Given the description of an element on the screen output the (x, y) to click on. 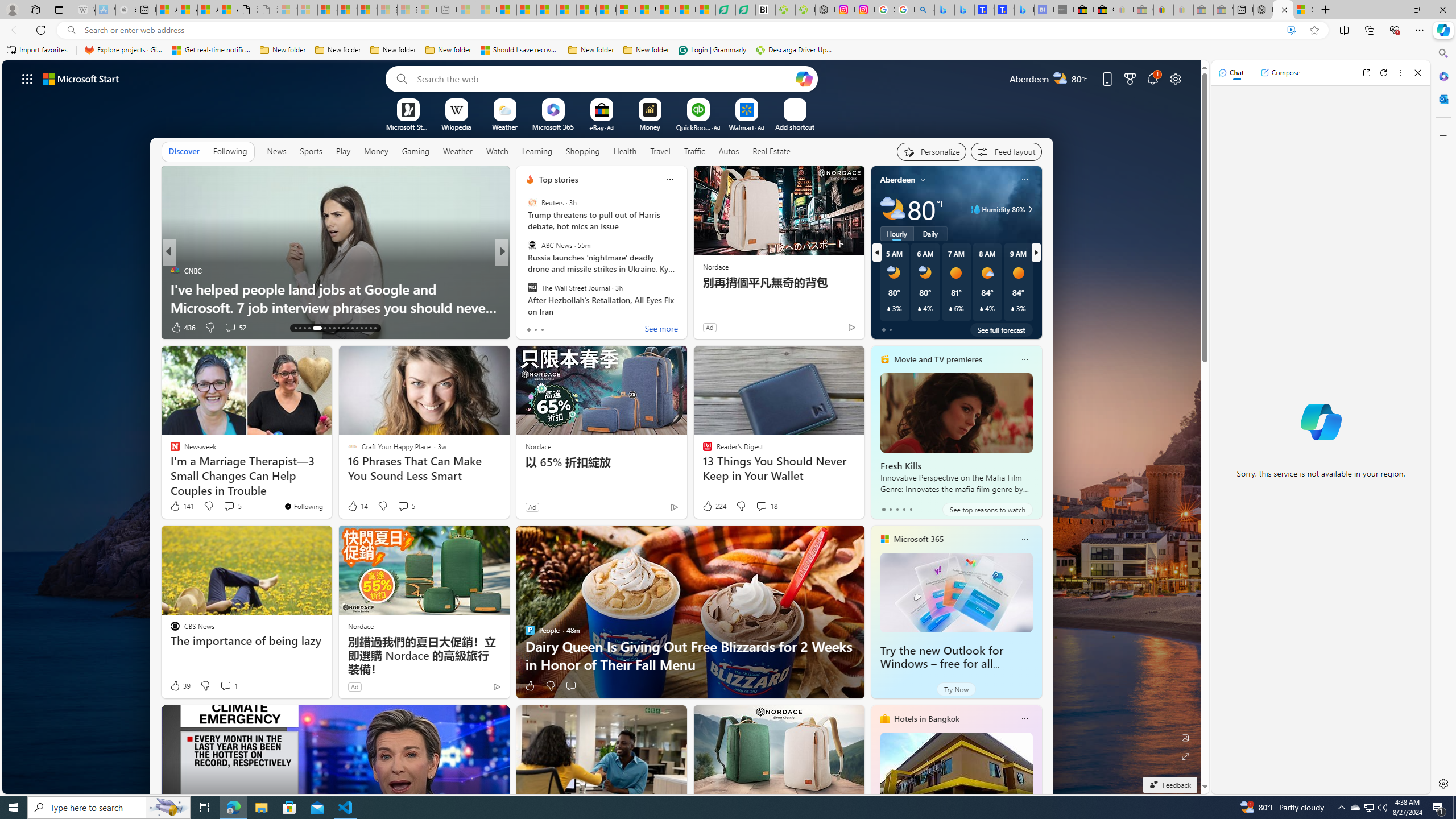
Microsoft Bing Travel - Stays in Bangkok, Bangkok, Thailand (964, 9)
Login | Grammarly (712, 49)
next (1035, 252)
Edit Background (1185, 737)
My location (922, 179)
View comments 18 Comment (766, 505)
Aberdeen, Hong Kong SAR weather forecast | Microsoft Weather (186, 9)
AutomationID: tab-18 (324, 328)
